Given the description of an element on the screen output the (x, y) to click on. 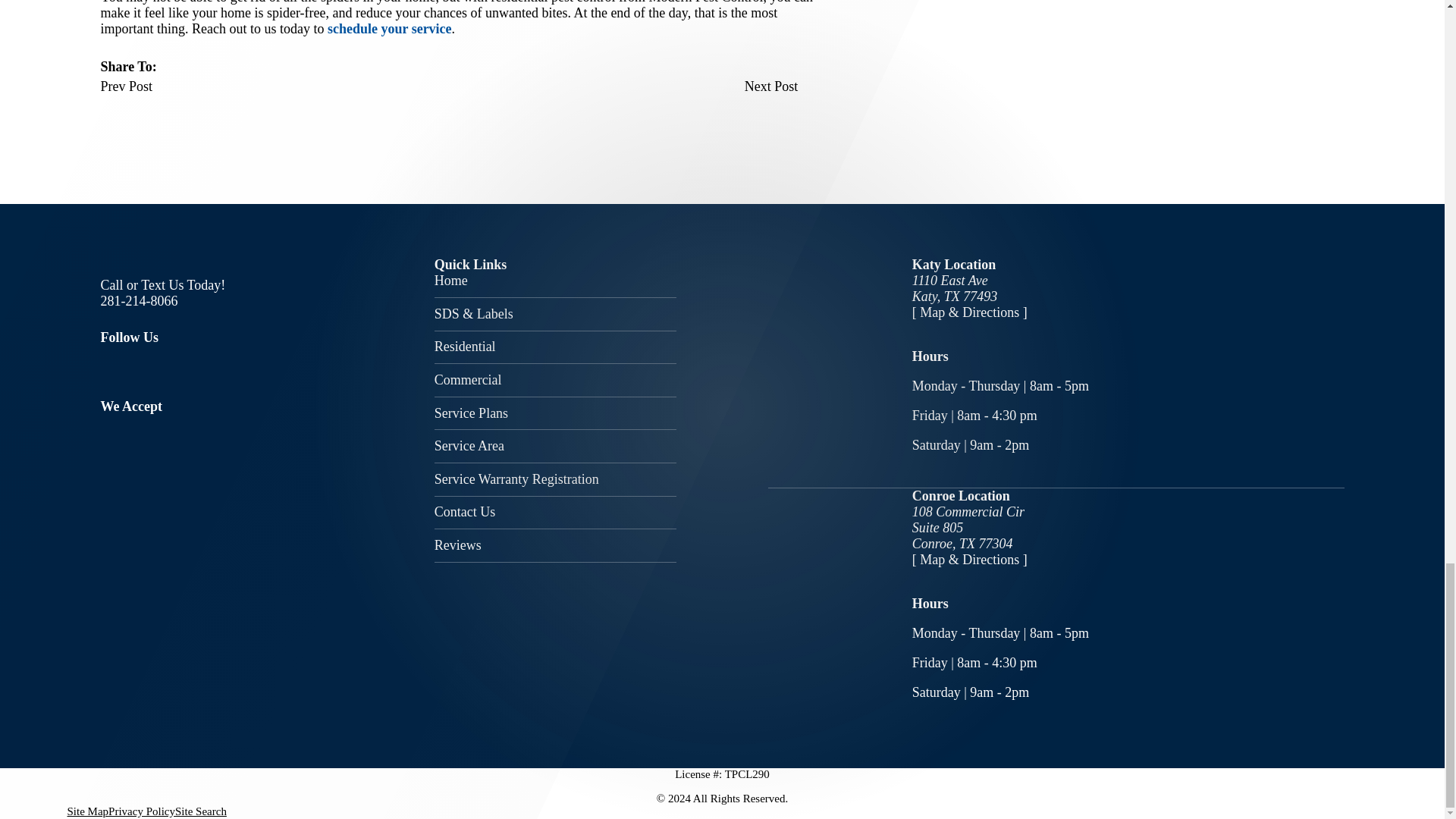
Google Business Profile (204, 368)
Visa (106, 421)
Nextdoor (250, 368)
Twitter (157, 368)
Facebook (109, 368)
